Given the description of an element on the screen output the (x, y) to click on. 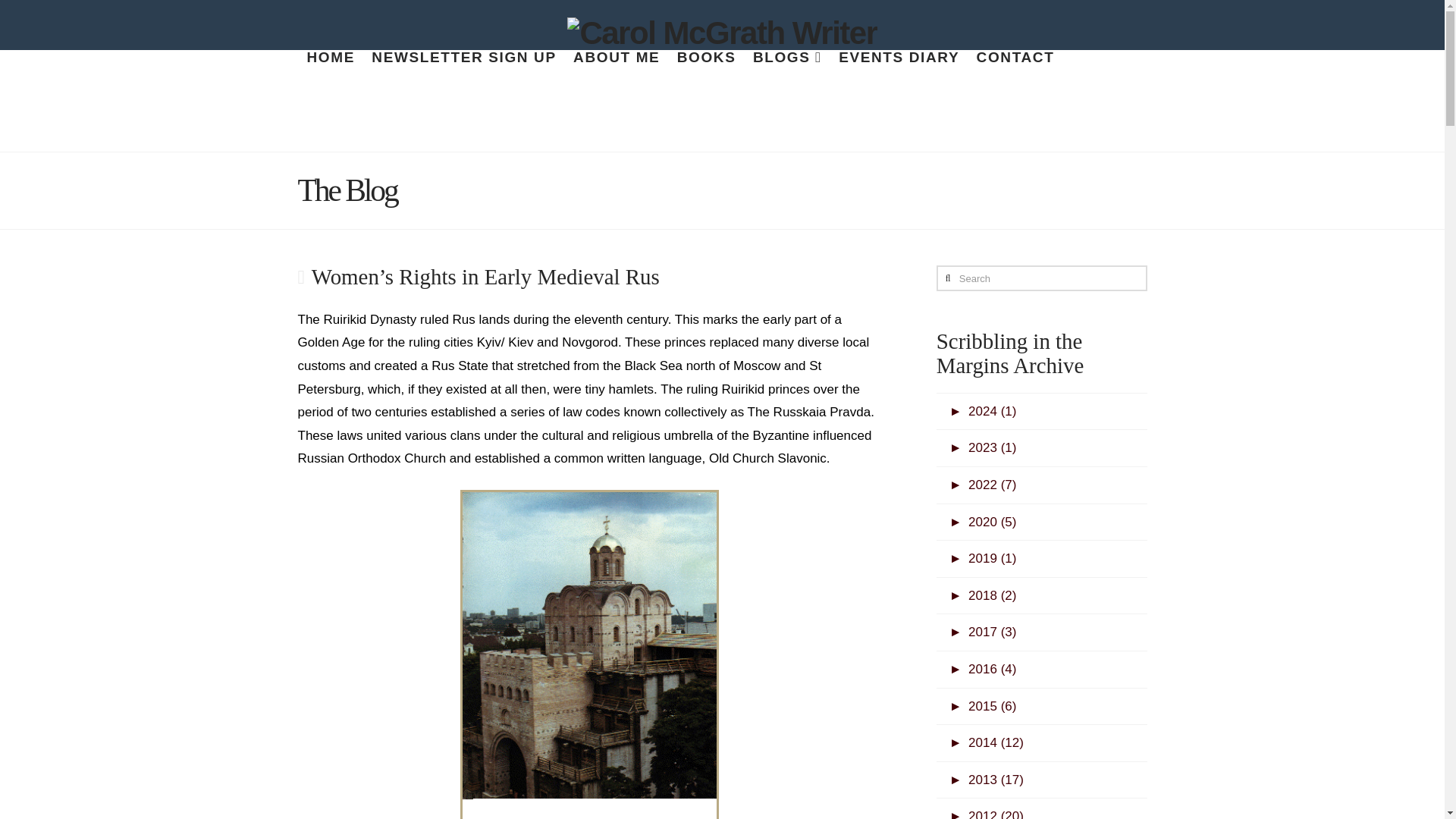
NEWSLETTER SIGN UP (463, 74)
ABOUT ME (616, 74)
2023 (982, 447)
EVENTS DIARY (897, 74)
2022 (982, 484)
CONTACT (1015, 74)
BOOKS (706, 74)
HOME (329, 74)
BLOGS (786, 74)
2024 (982, 411)
